Given the description of an element on the screen output the (x, y) to click on. 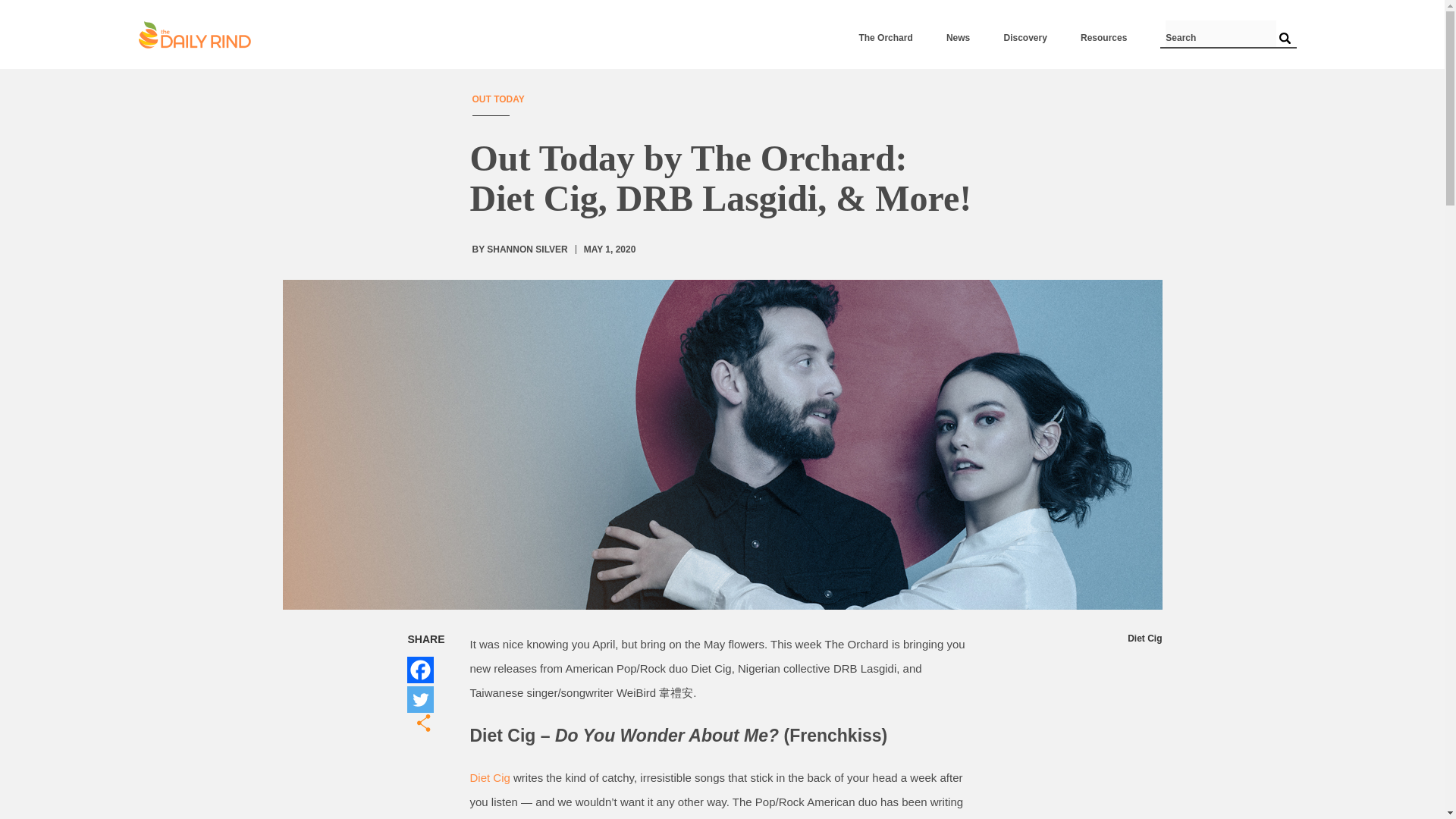
News (957, 37)
Twitter (419, 699)
Discovery (1024, 37)
Facebook (419, 669)
Resources (1103, 37)
The Orchard (885, 37)
OUT TODAY (497, 99)
More (425, 723)
Diet Cig (490, 777)
